Given the description of an element on the screen output the (x, y) to click on. 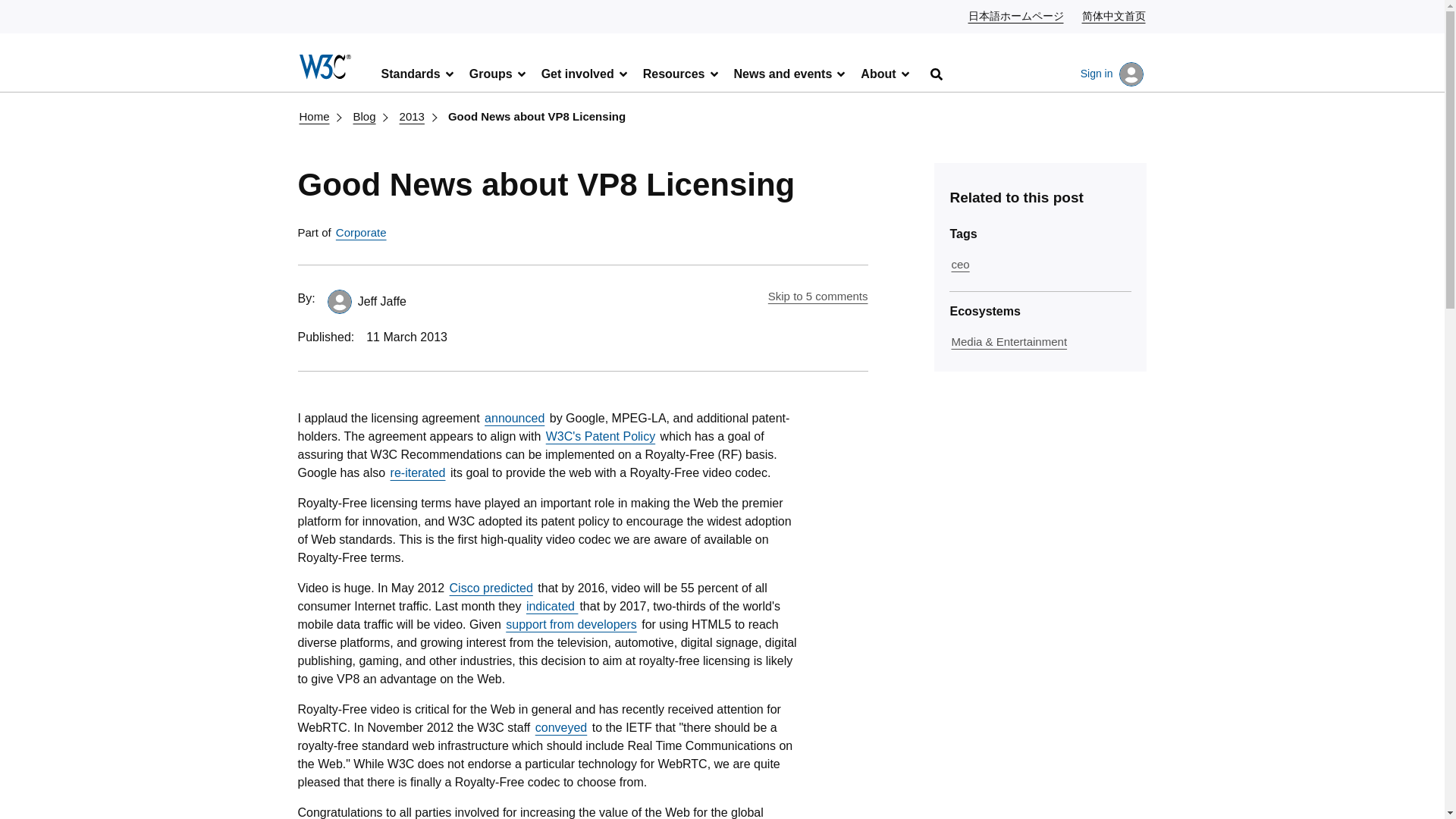
Get involved (584, 72)
Visit the W3C homepage (326, 69)
Groups (498, 72)
Standards (418, 72)
11 March 2013 at 02:03:04 (406, 336)
Resources (681, 72)
